Given the description of an element on the screen output the (x, y) to click on. 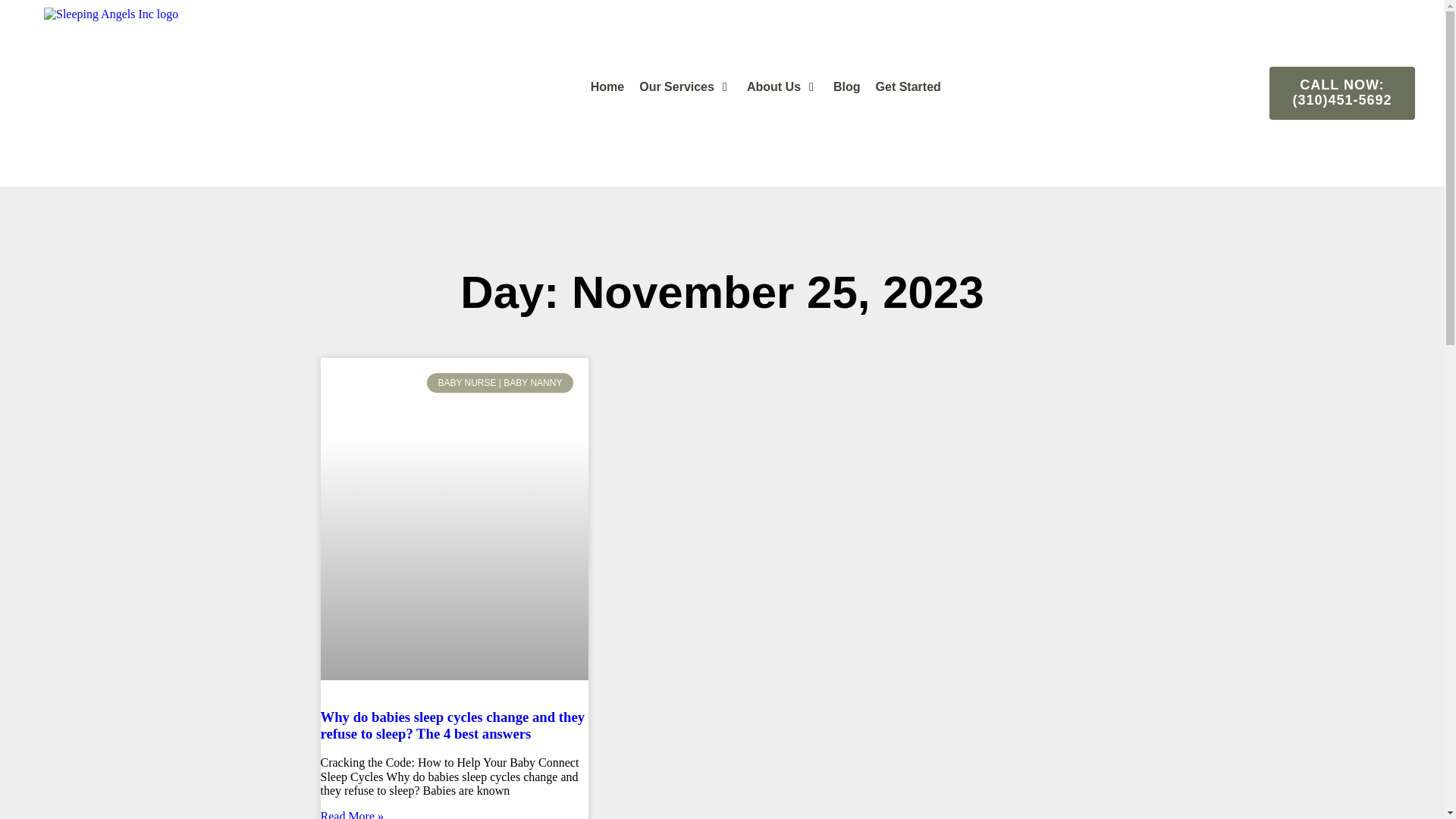
Blog (846, 87)
Home (607, 87)
Get Started (908, 87)
Our Services (676, 87)
About Us (773, 87)
